Given the description of an element on the screen output the (x, y) to click on. 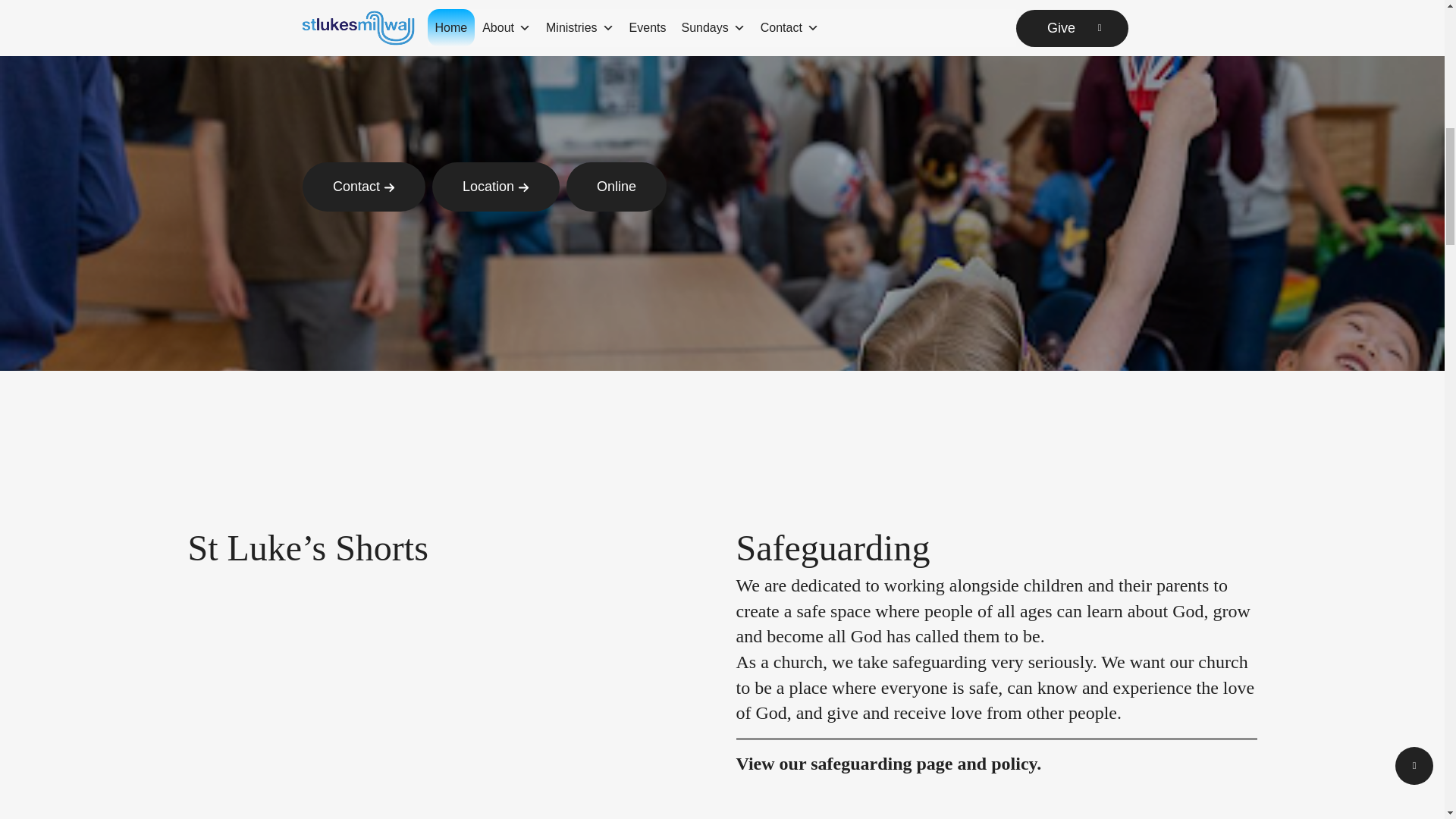
View our safeguarding page and policy. (888, 763)
St Lukes Millwall Church (478, 52)
Location (495, 186)
Online (616, 186)
Contact (363, 186)
